Given the description of an element on the screen output the (x, y) to click on. 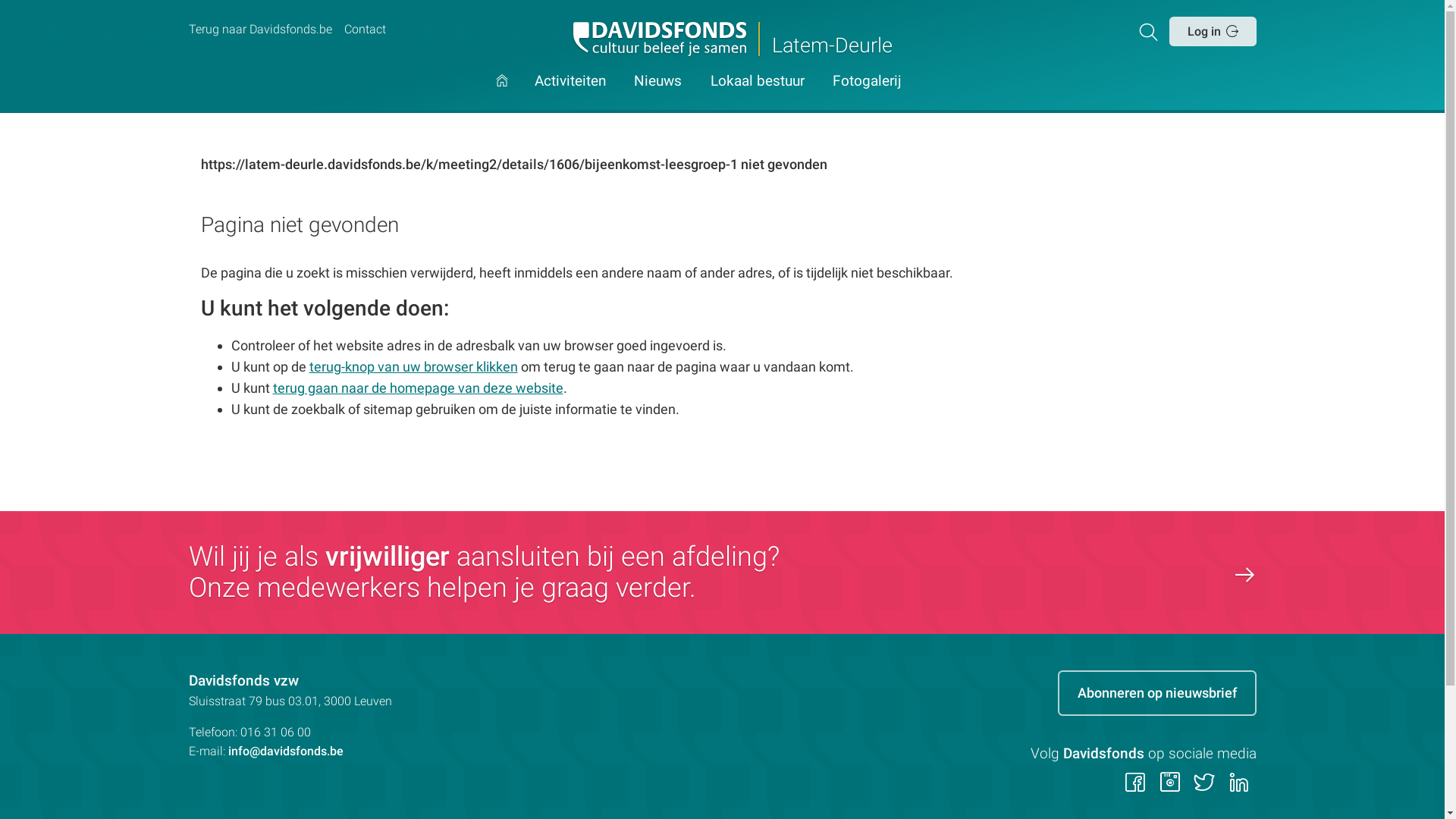
Contact Element type: text (364, 30)
Volg ons op Facebook Element type: text (1135, 784)
Zoeken Element type: text (1150, 31)
terug-knop van uw browser klikken Element type: text (413, 366)
Volg ons op Instagram Element type: text (1169, 784)
terug gaan naar de homepage van deze website Element type: text (418, 387)
Latem-Deurle Element type: text (721, 38)
Volg ons op Twitter Element type: text (1204, 784)
Log in Element type: text (1212, 30)
Nieuws Element type: text (657, 93)
Hoofdpagina Element type: text (501, 93)
Lokaal bestuur Element type: text (757, 93)
Volg ons op LinkedIn Element type: text (1238, 784)
Activiteiten Element type: text (569, 93)
Abonneren op nieuwsbrief Element type: text (1156, 692)
Fotogalerij Element type: text (866, 93)
Terug naar Davidsfonds.be Element type: text (259, 30)
